Given the description of an element on the screen output the (x, y) to click on. 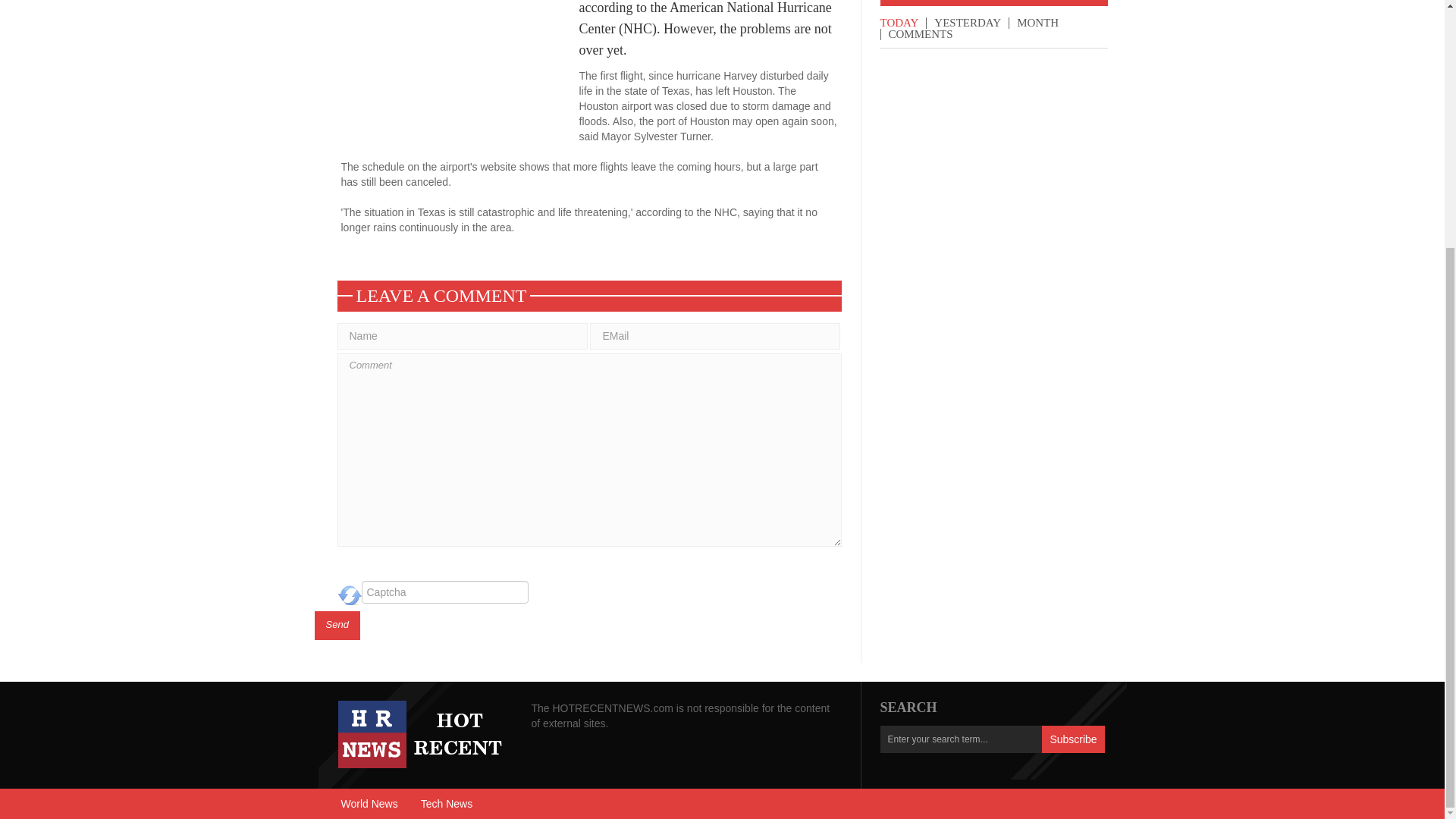
Enter your search term... (960, 738)
Subscribe (1072, 738)
Advertisement (459, 74)
Send (336, 624)
